Given the description of an element on the screen output the (x, y) to click on. 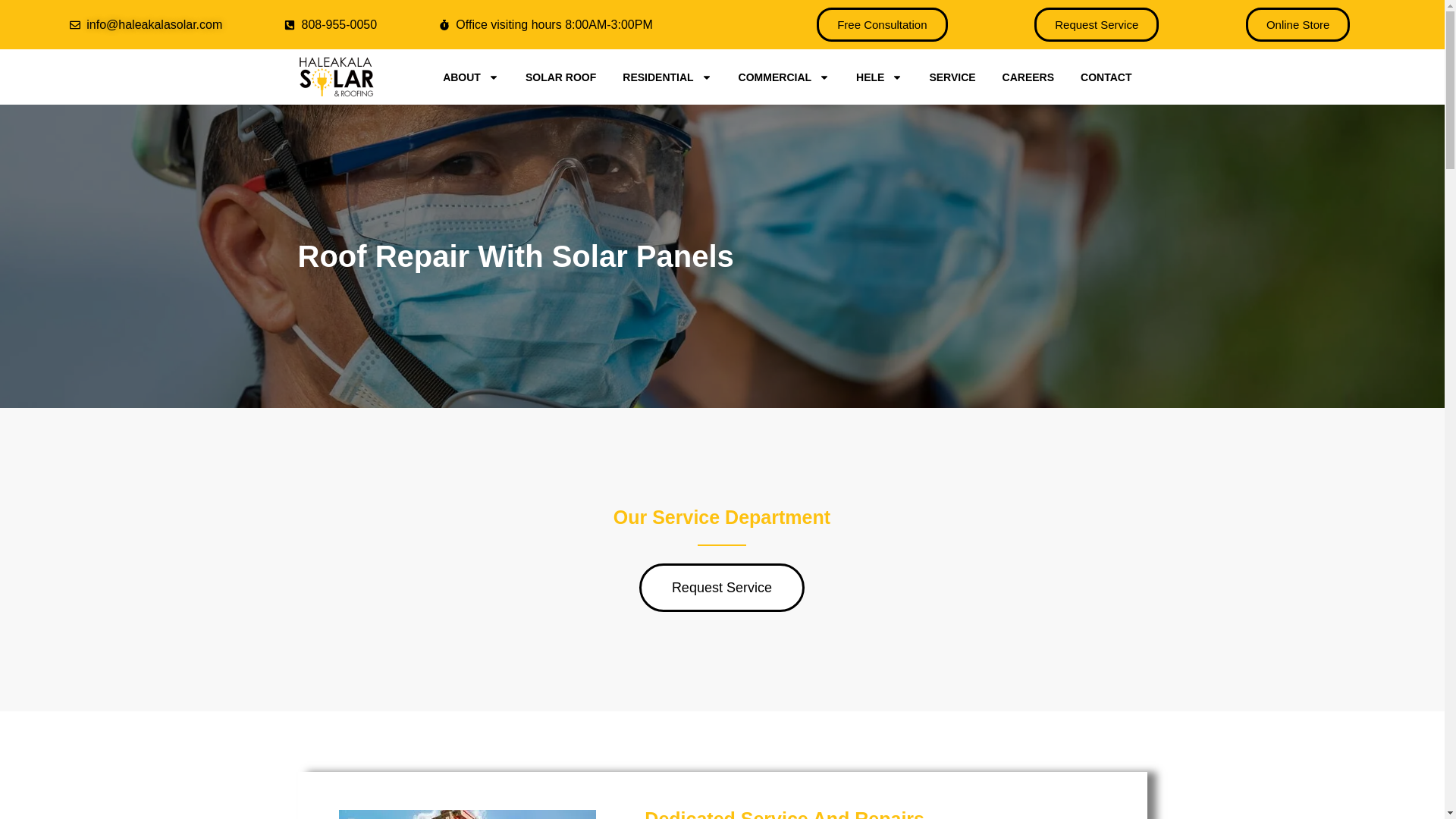
808-955-0050 (330, 24)
Office visiting hours 8:00AM-3:00PM (545, 24)
COMMERCIAL (783, 76)
RESIDENTIAL (666, 76)
Free Consultation (881, 24)
Online Store (1297, 24)
SOLAR ROOF (561, 76)
ABOUT (470, 76)
Request Service (1095, 24)
HELE (879, 76)
